Given the description of an element on the screen output the (x, y) to click on. 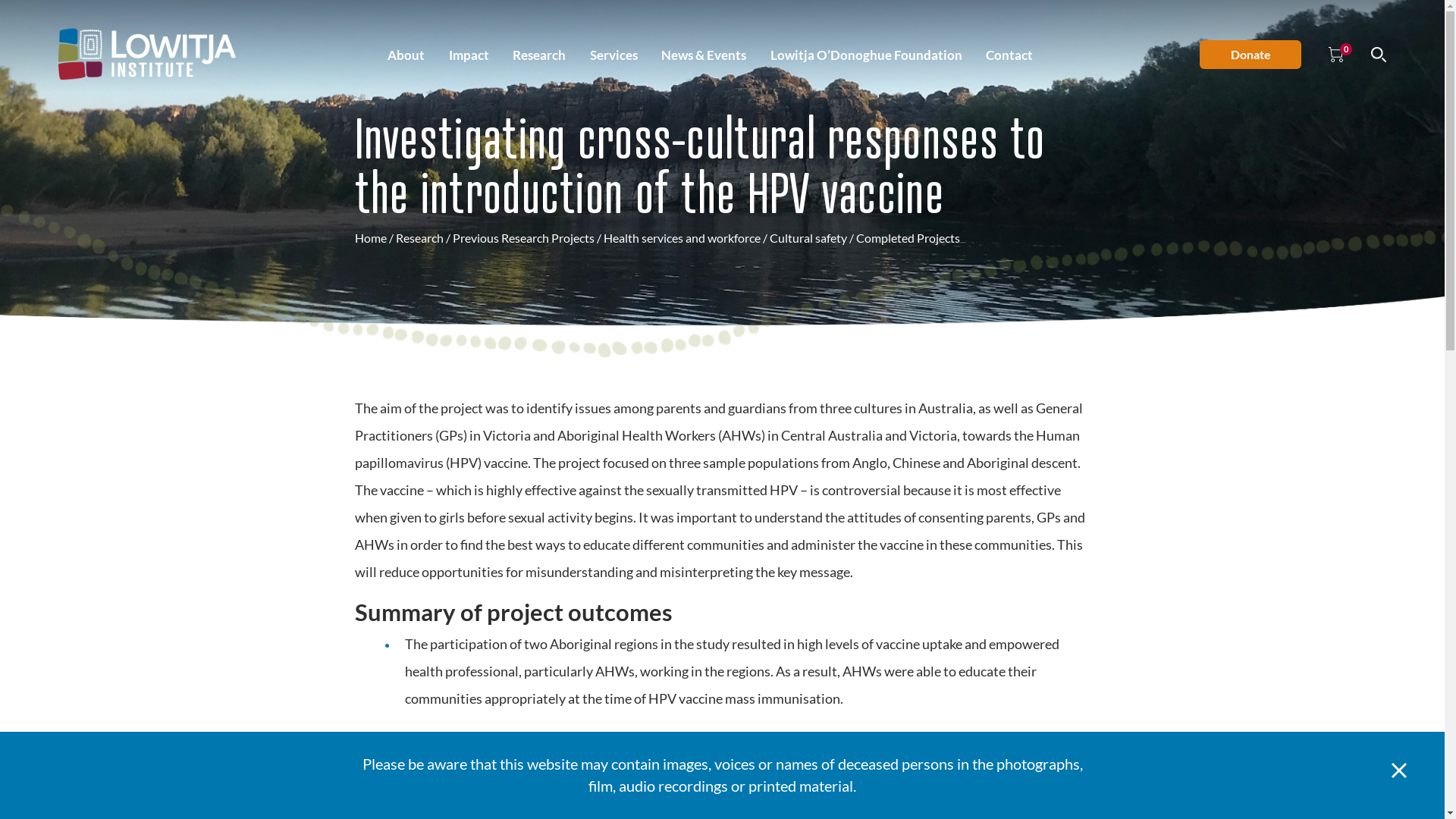
Cultural safety Element type: text (807, 237)
Home Element type: text (370, 237)
Services Element type: text (613, 54)
About Element type: text (405, 54)
Completed Projects Element type: text (907, 237)
Research Element type: text (538, 54)
Donate Element type: text (1250, 54)
Health services and workforce Element type: text (681, 237)
Contact Element type: text (1008, 54)
Research Element type: text (419, 237)
0 Element type: text (1335, 54)
News & Events Element type: text (703, 54)
Previous Research Projects Element type: text (522, 237)
Impact Element type: text (468, 54)
